Given the description of an element on the screen output the (x, y) to click on. 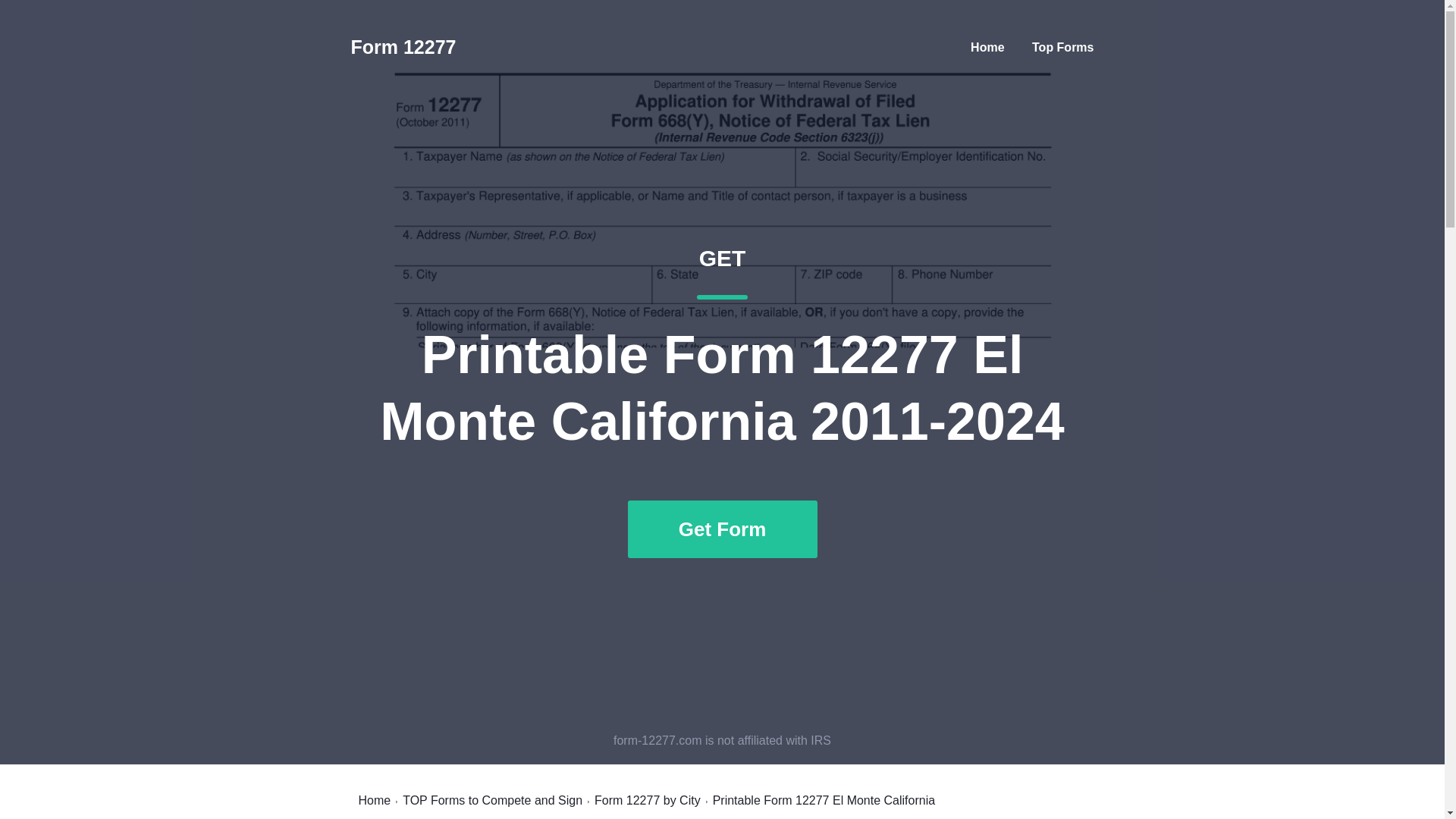
Form 12277 by City (647, 800)
Home (374, 800)
Top Forms (1062, 47)
Form 12277 (402, 46)
TOP Forms to Compete and Sign (492, 800)
Home (987, 47)
